Given the description of an element on the screen output the (x, y) to click on. 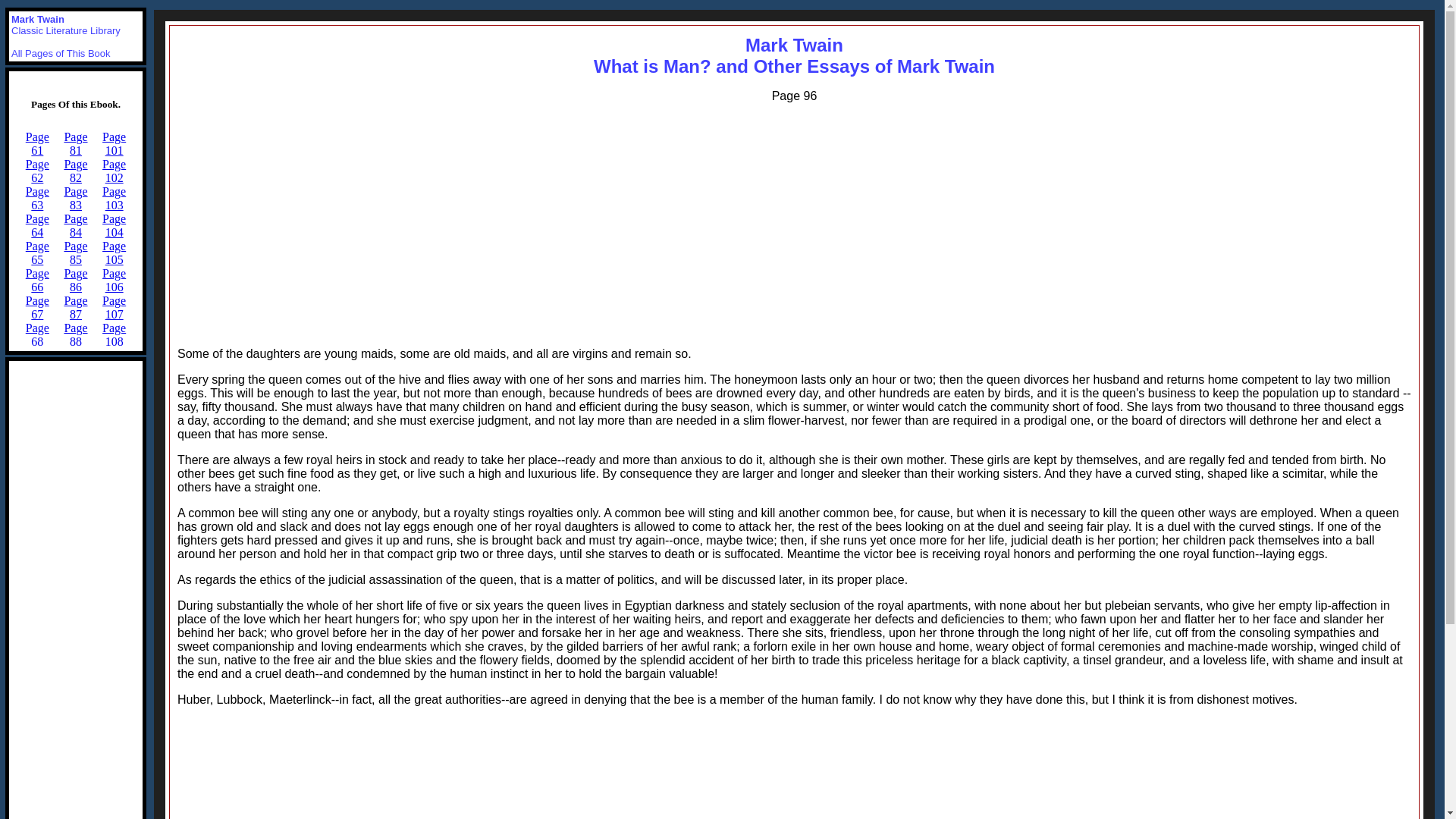
Classic Literature Library (65, 30)
Advertisement (794, 769)
All Pages of This Book (794, 55)
Mark Twain (60, 52)
